Given the description of an element on the screen output the (x, y) to click on. 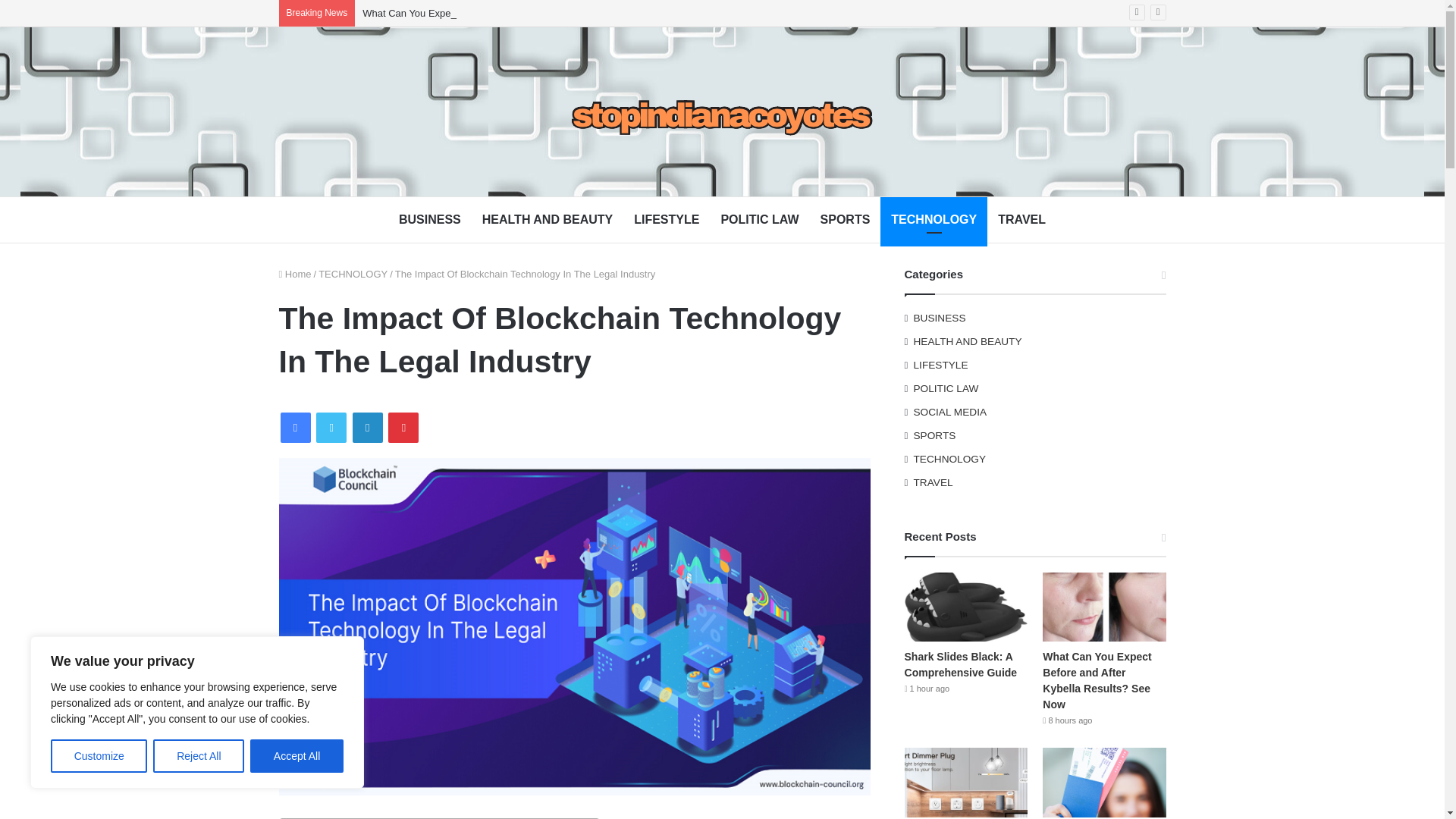
Reject All (198, 756)
LinkedIn (367, 427)
Pinterest (403, 427)
LIFESTYLE (666, 219)
TECHNOLOGY (352, 274)
TRAVEL (1022, 219)
SPORTS (844, 219)
BUSINESS (429, 219)
TECHNOLOGY (933, 219)
